Given the description of an element on the screen output the (x, y) to click on. 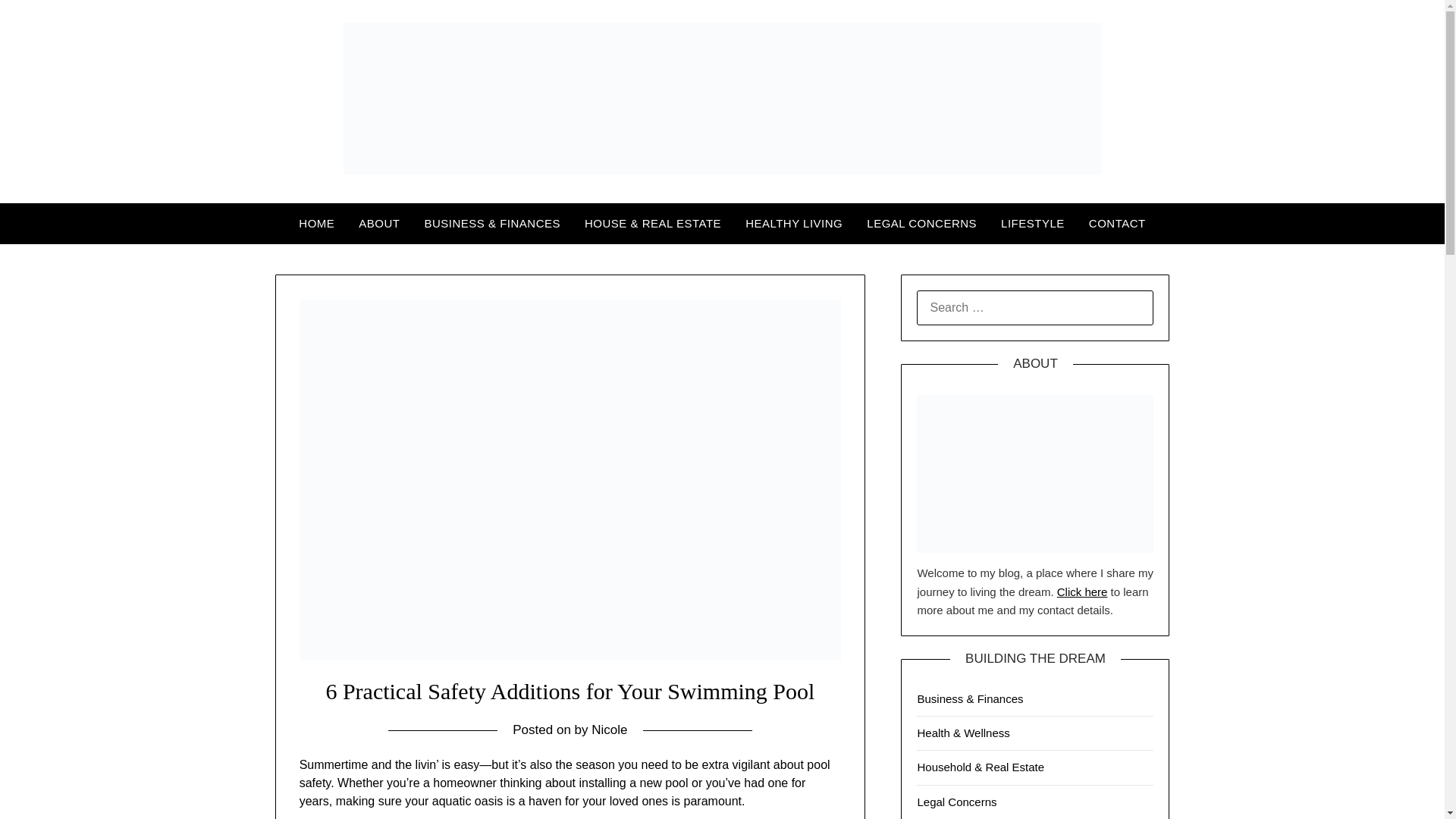
CONTACT (1117, 223)
Search (38, 22)
HEALTHY LIVING (793, 223)
Legal Concerns (956, 801)
HOME (316, 223)
LIFESTYLE (1032, 223)
LEGAL CONCERNS (921, 223)
Click here (1082, 591)
ABOUT (379, 223)
Nicole (609, 729)
